Given the description of an element on the screen output the (x, y) to click on. 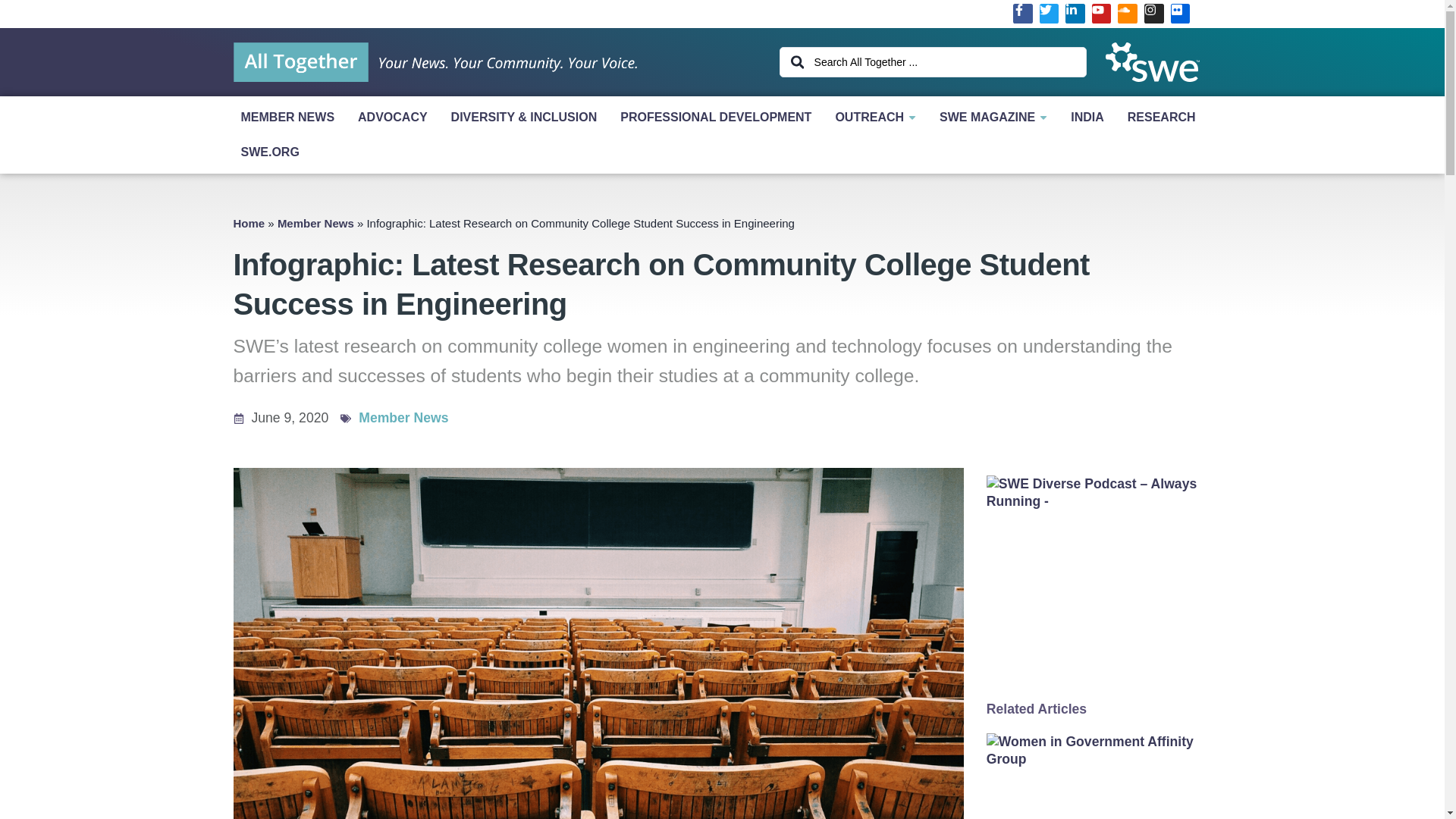
SWE.ORG (721, 152)
OUTREACH (879, 117)
INDIA (1090, 117)
SWE MAGAZINE (996, 117)
MEMBER NEWS (291, 117)
PROFESSIONAL DEVELOPMENT (719, 117)
ADVOCACY (397, 117)
RESEARCH (1165, 117)
